Given the description of an element on the screen output the (x, y) to click on. 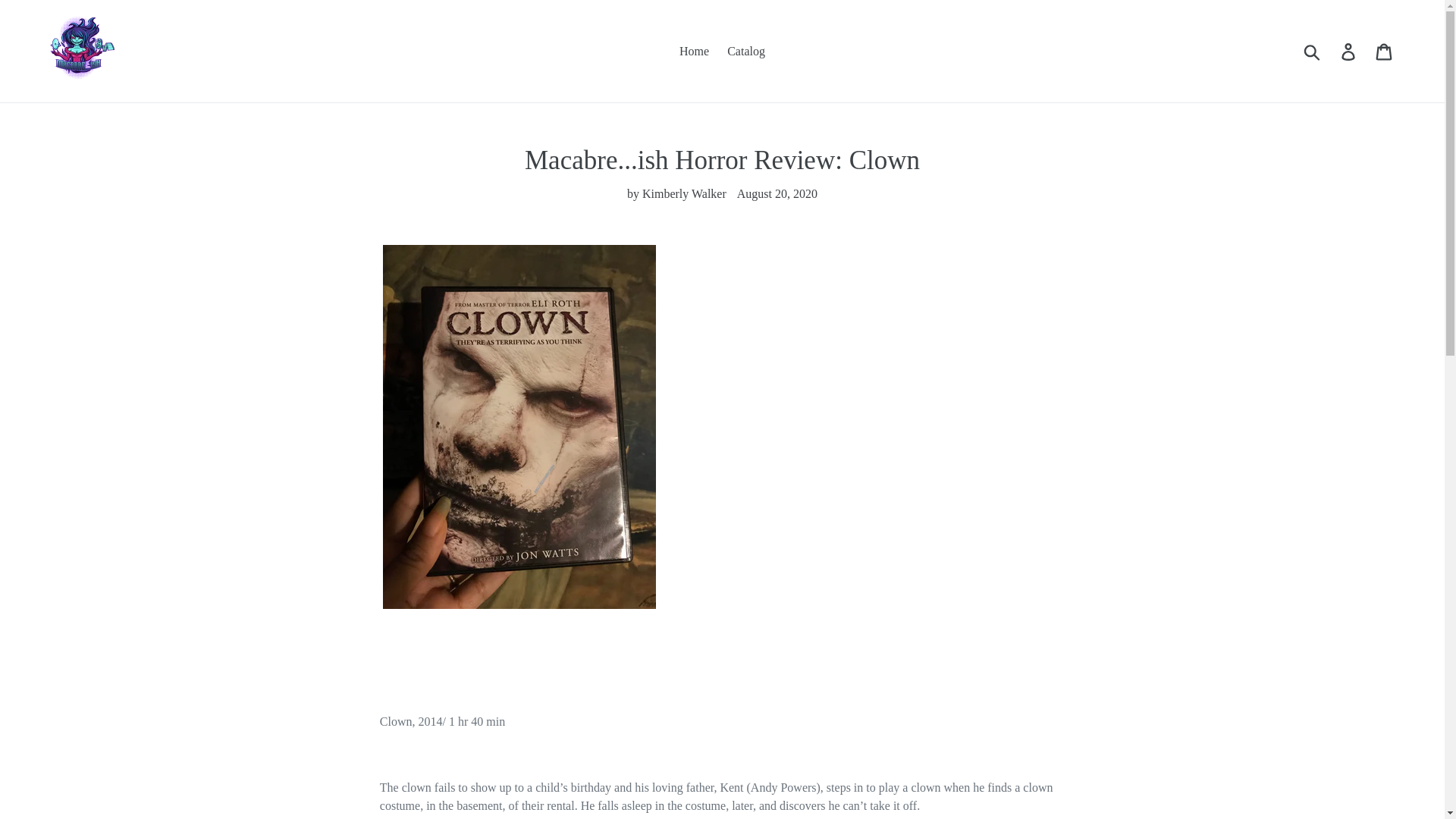
Catalog (746, 50)
Log in (1349, 50)
Cart (1385, 50)
Home (693, 50)
Submit (1313, 50)
